Given the description of an element on the screen output the (x, y) to click on. 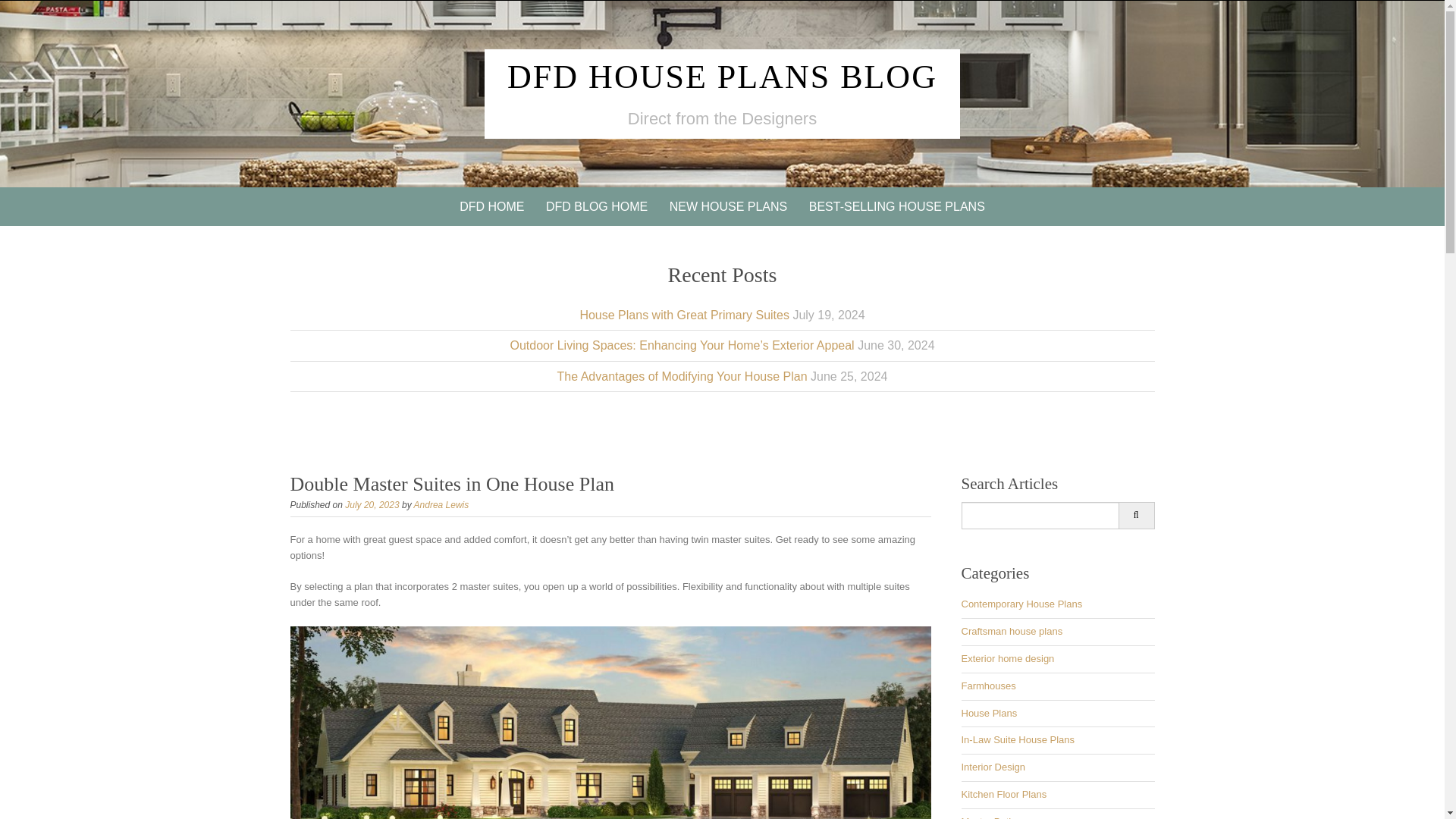
BEST-SELLING HOUSE PLANS (896, 206)
July 20, 2023 (371, 504)
Farmhouses (988, 685)
Interior Design (993, 767)
DFD BLOG HOME (596, 206)
NEW HOUSE PLANS (728, 206)
In-Law Suite House Plans (1017, 739)
Master Bathroom (998, 817)
House Plans with Great Primary Suites (684, 314)
